Given the description of an element on the screen output the (x, y) to click on. 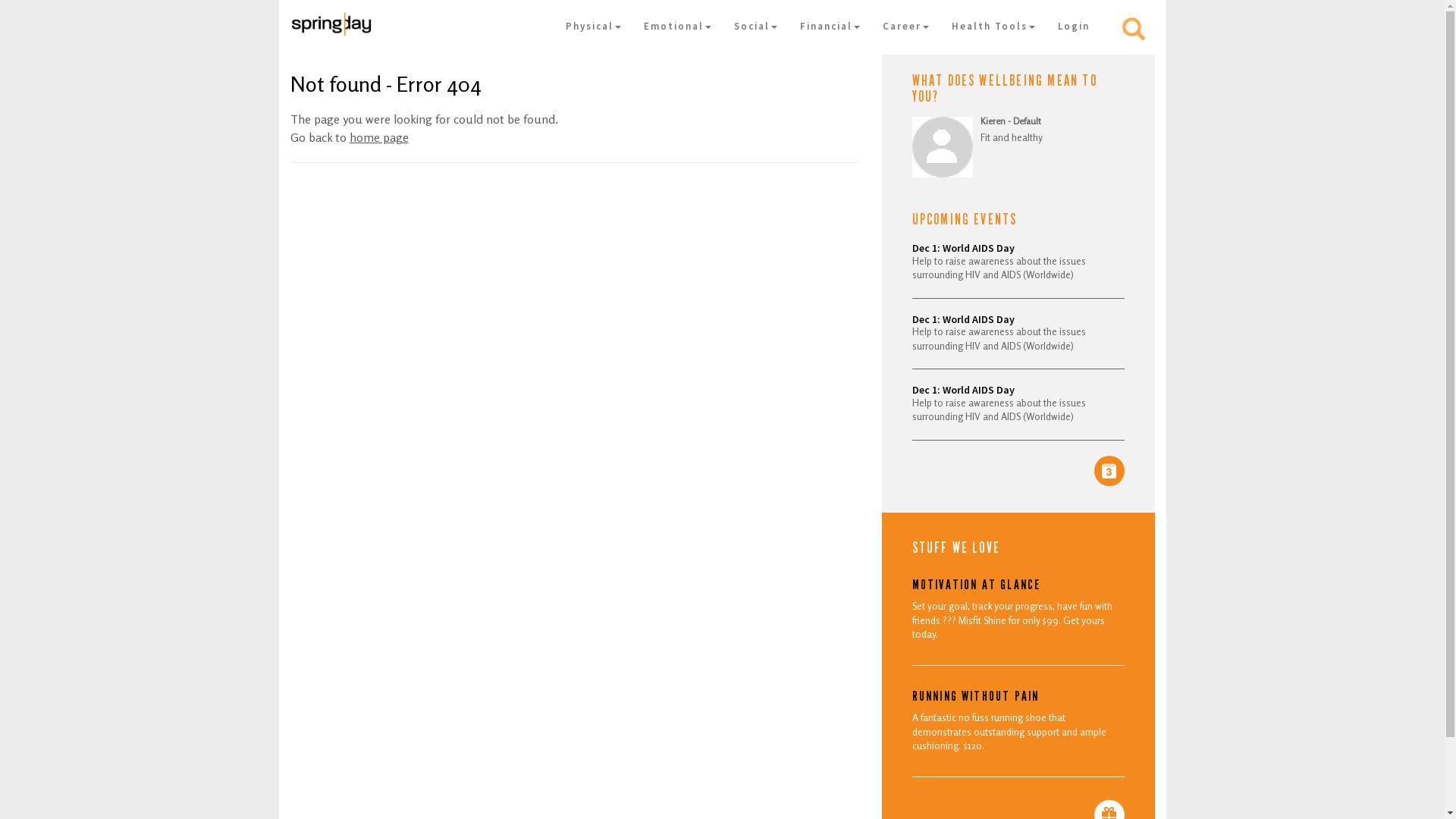
Login Element type: text (1073, 26)
Career Element type: text (904, 26)
Physical Element type: text (592, 26)
Health Tools Element type: text (993, 26)
Social Element type: text (754, 26)
Financial Element type: text (829, 26)
Emotional Element type: text (677, 26)
home page Element type: text (377, 137)
